Given the description of an element on the screen output the (x, y) to click on. 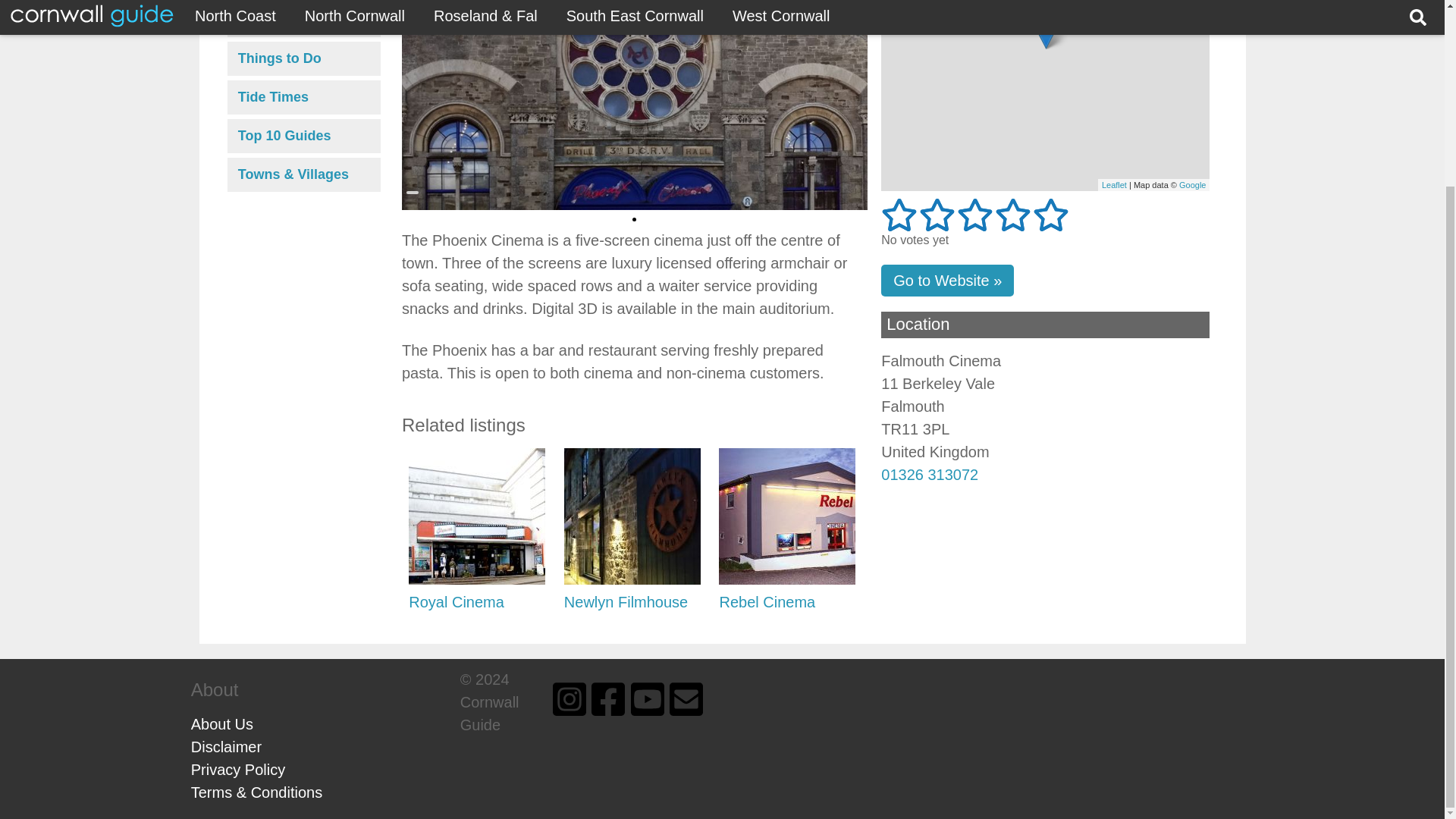
A JS library for interactive maps (1114, 184)
